Given the description of an element on the screen output the (x, y) to click on. 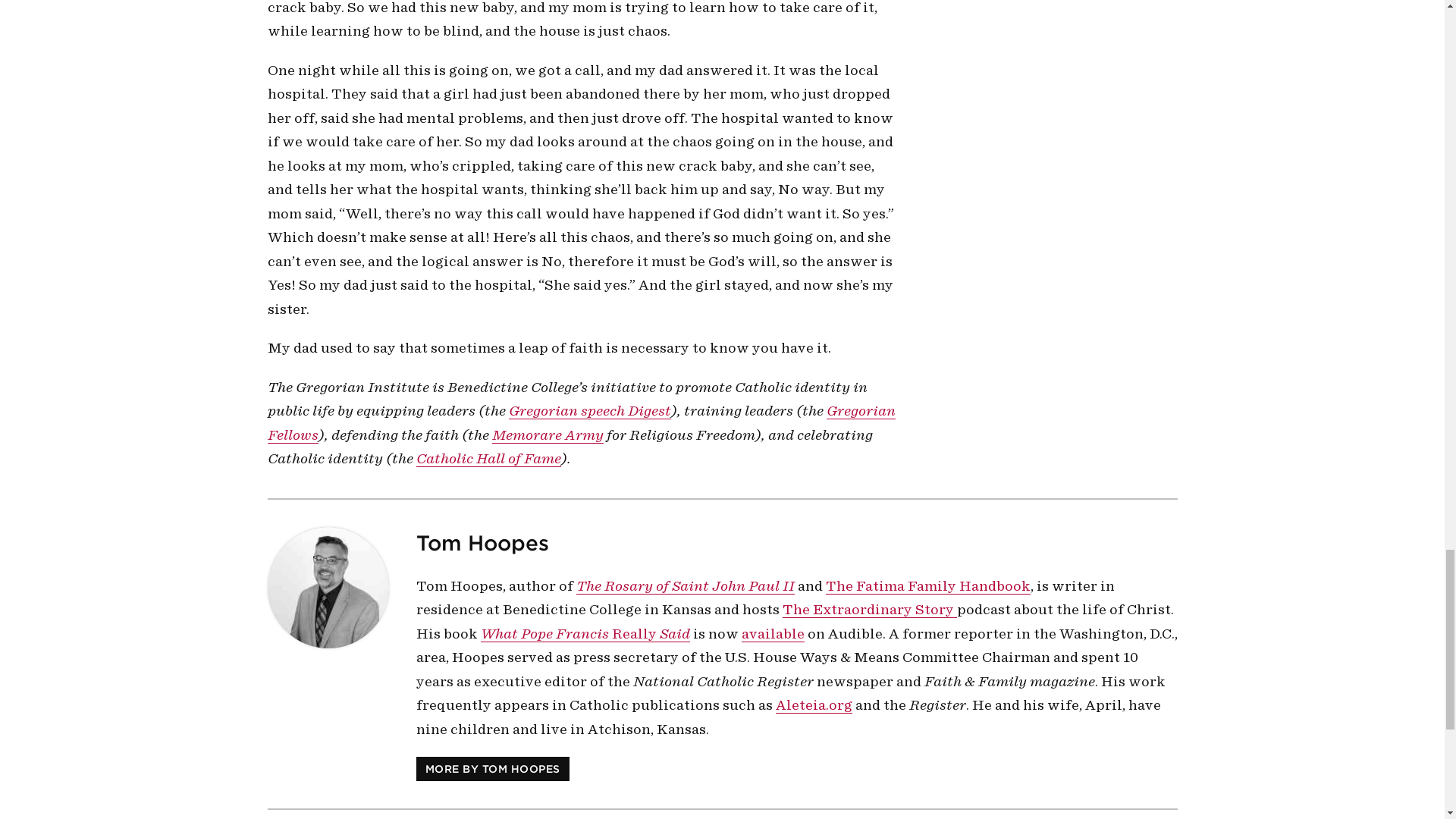
The Extraordinary Story (869, 609)
The Rosary of Saint John Paul II (685, 586)
available (773, 632)
MORE BY TOM HOOPES (491, 768)
Gregorian Fellows (580, 422)
Memorare Army (547, 434)
What Pope Francis Really Said (585, 632)
Gregorian speech Digest (588, 410)
Catholic Hall of Fame (487, 458)
The Fatima Family Handbook (927, 586)
Aleteia.org (812, 704)
